Given the description of an element on the screen output the (x, y) to click on. 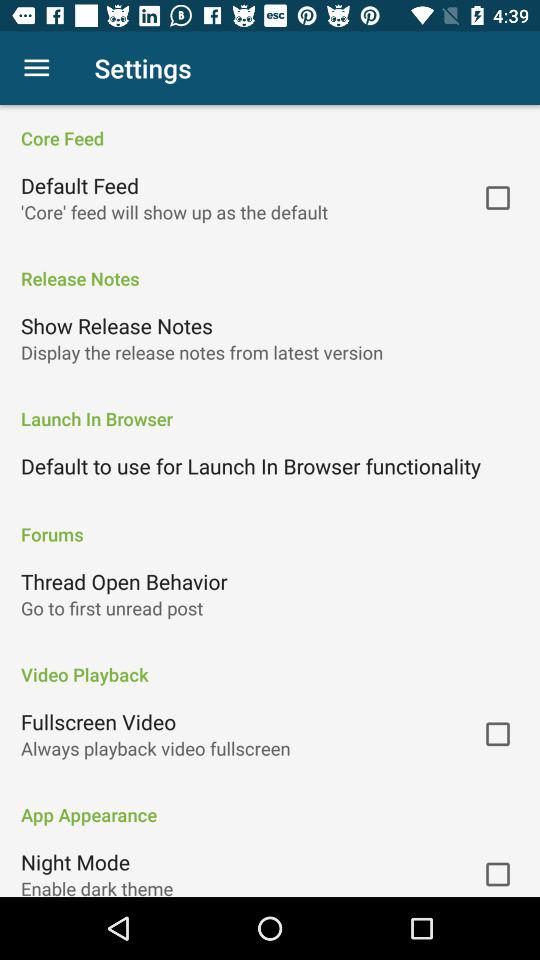
launch the item below the thread open behavior item (112, 607)
